Given the description of an element on the screen output the (x, y) to click on. 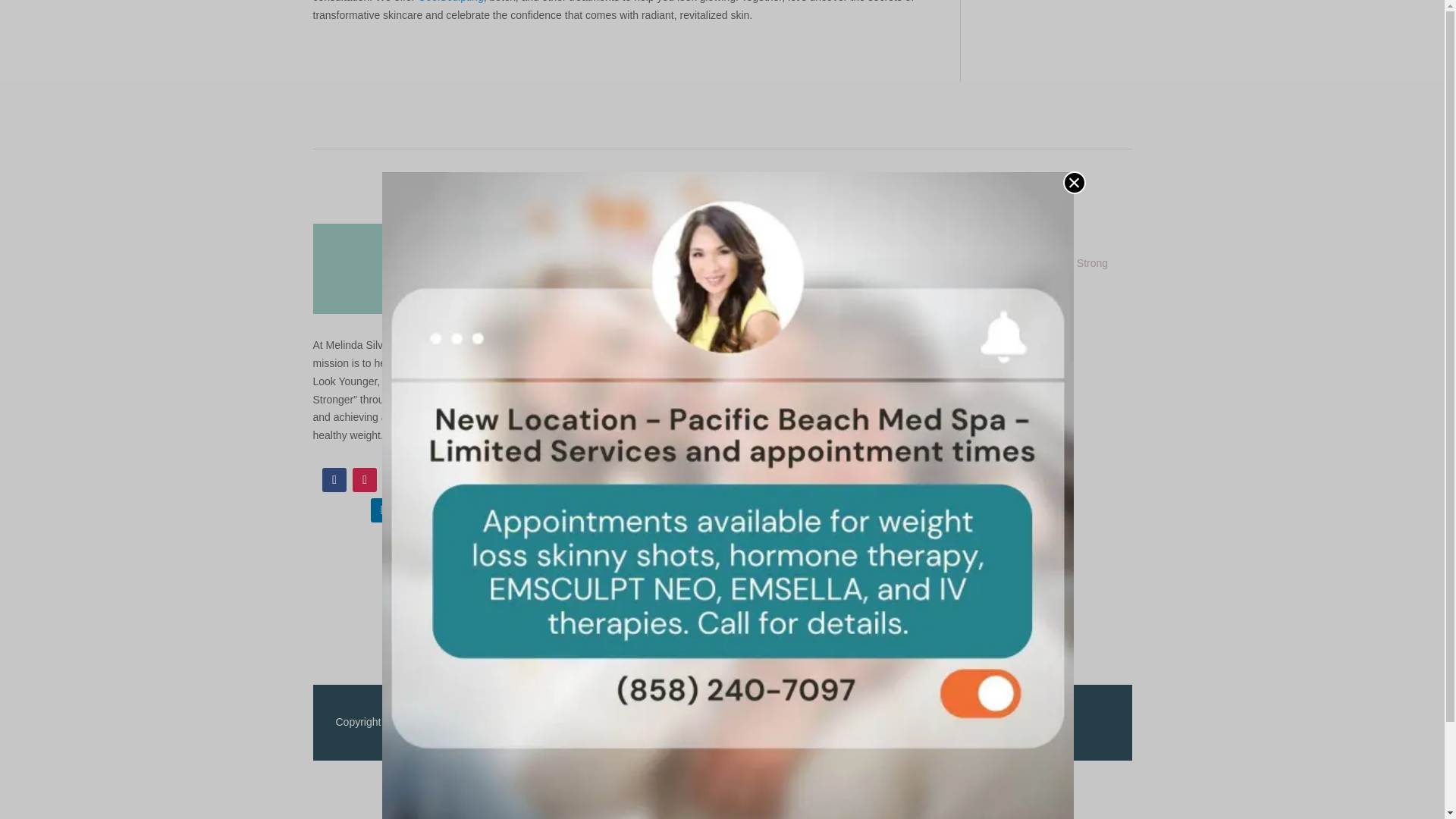
Follow on Instagram (364, 479)
Follow on Youtube (425, 479)
Follow on Facebook (333, 479)
Follow on X (394, 479)
Follow on Yelp (455, 479)
